Given the description of an element on the screen output the (x, y) to click on. 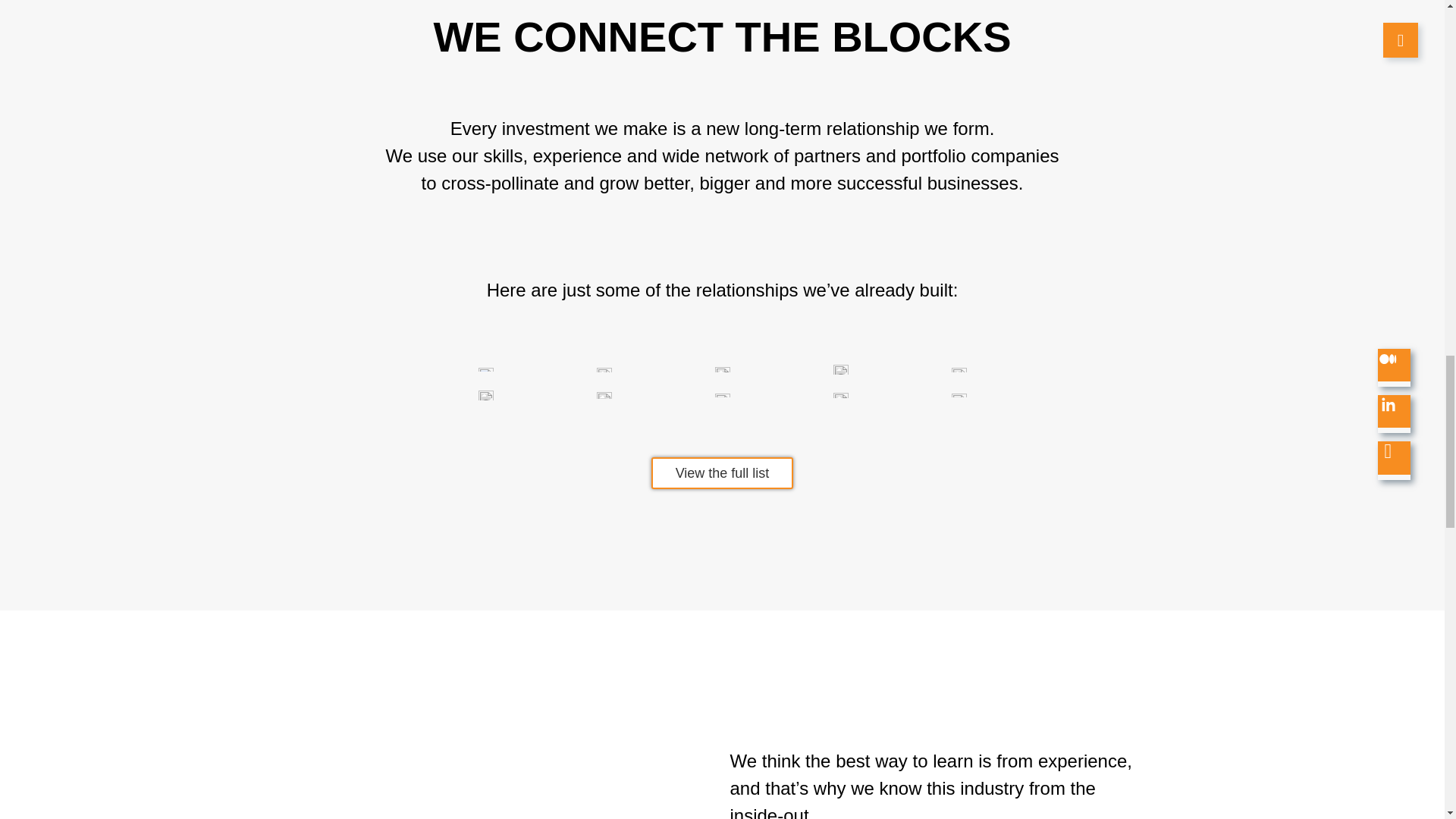
View the full list (721, 472)
